Given the description of an element on the screen output the (x, y) to click on. 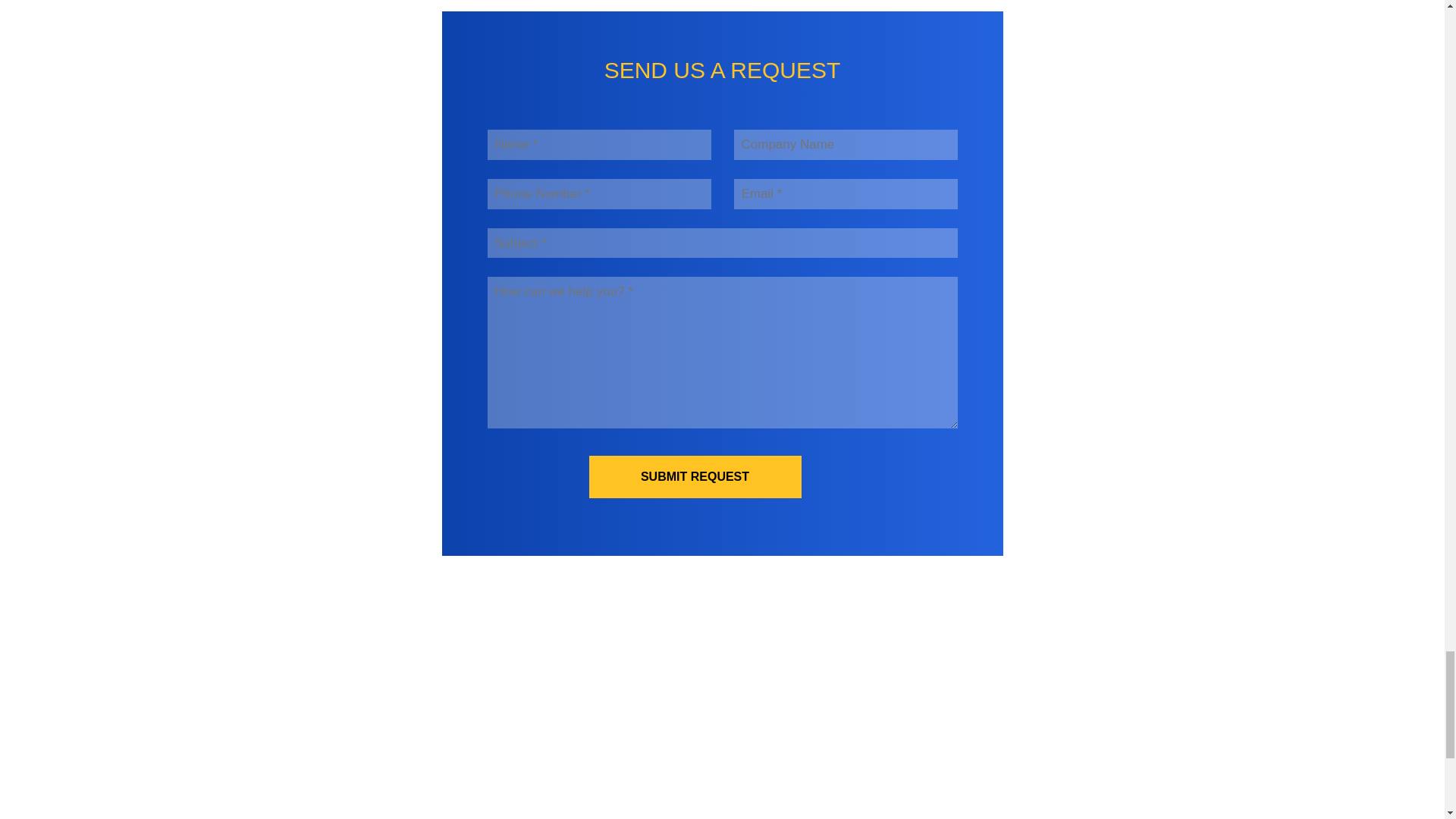
Submit Request (694, 476)
Submit Request (694, 476)
